Given the description of an element on the screen output the (x, y) to click on. 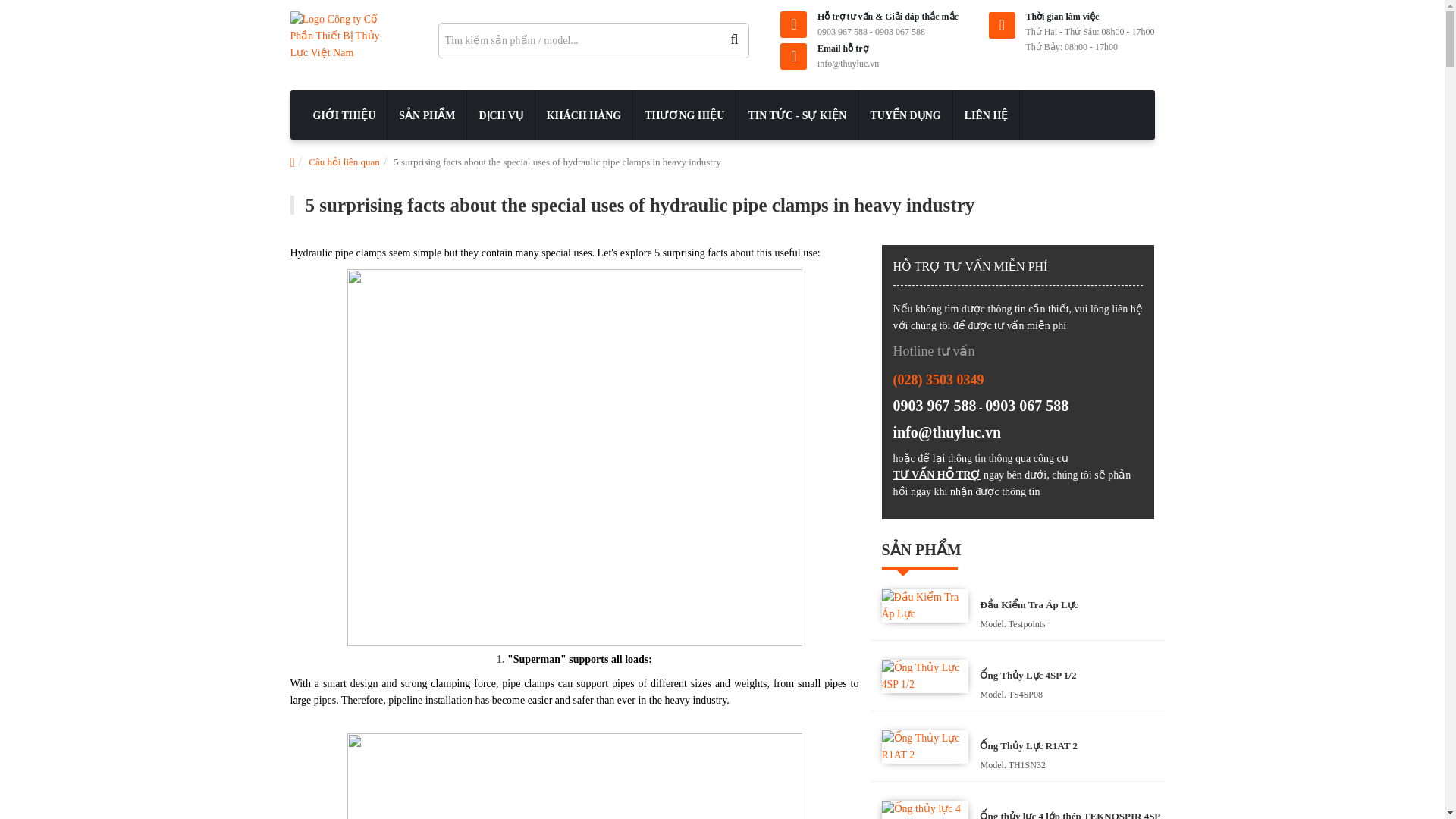
0903 967 588 (841, 31)
0903 067 588 (899, 31)
